Given the description of an element on the screen output the (x, y) to click on. 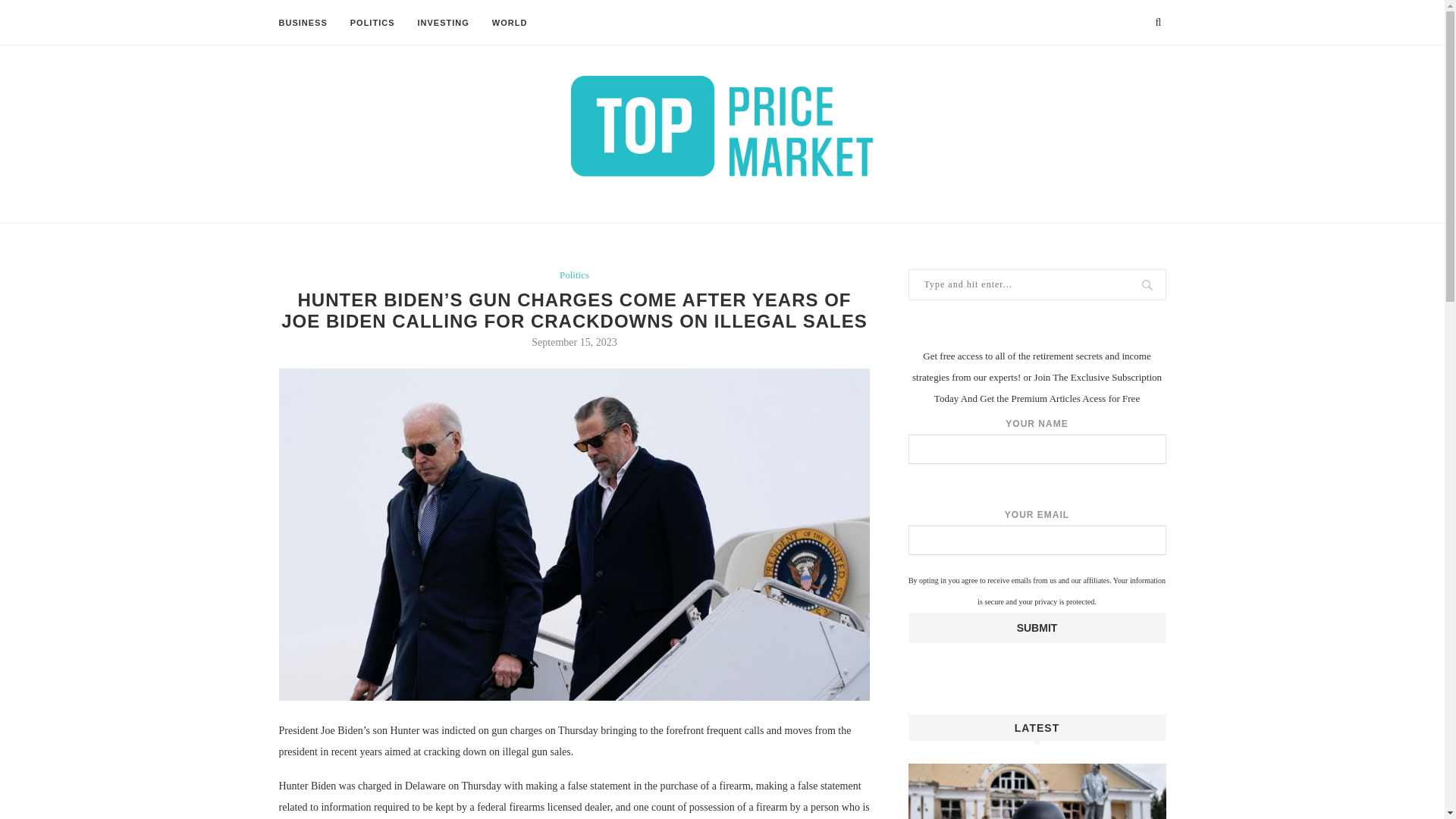
Submit (1037, 627)
BUSINESS (303, 22)
INVESTING (442, 22)
Politics (574, 275)
POLITICS (372, 22)
